Given the description of an element on the screen output the (x, y) to click on. 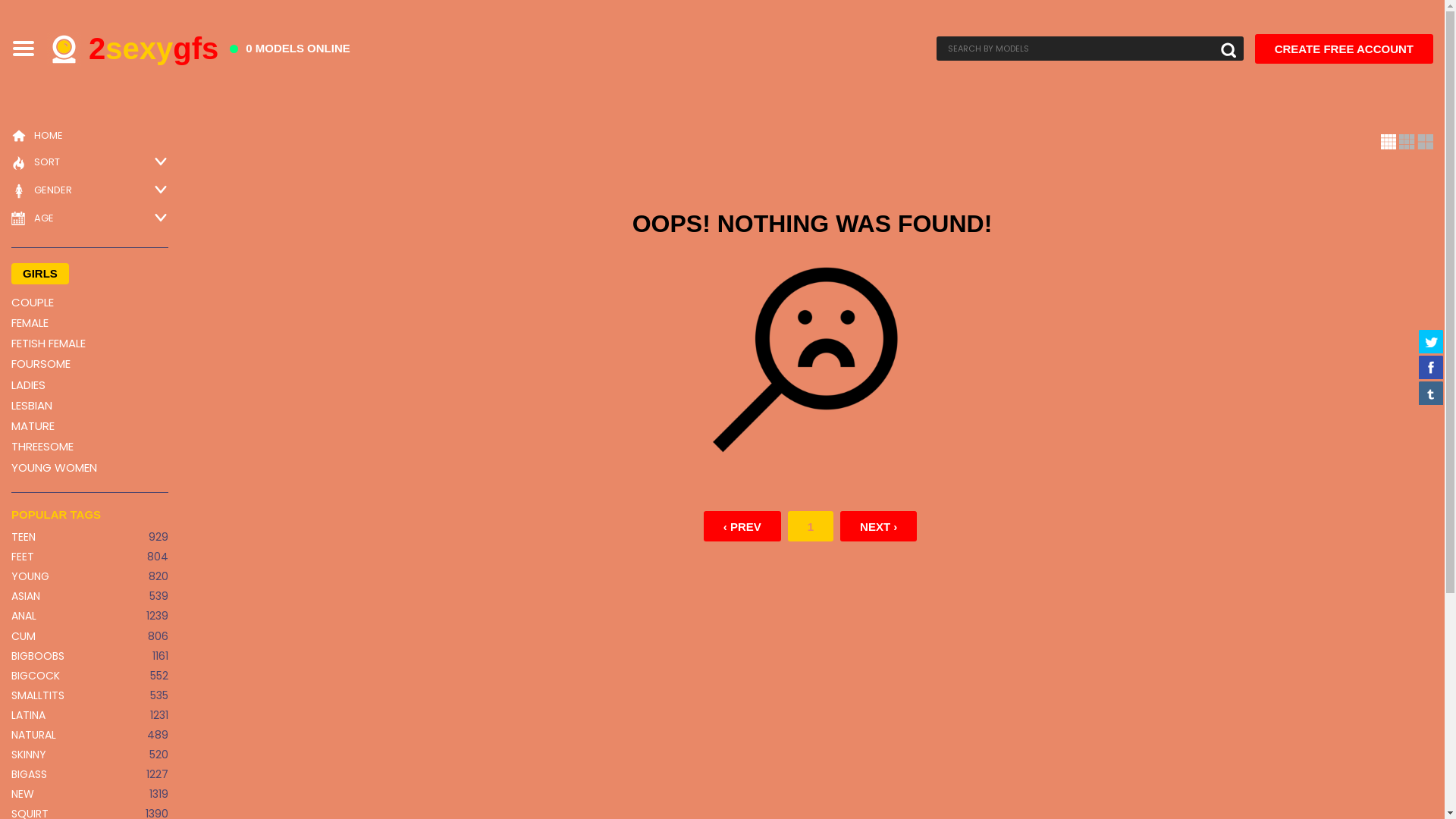
MATURE Element type: text (89, 425)
1 Element type: text (810, 526)
COUPLE Element type: text (89, 301)
GIRLS Element type: text (40, 273)
THREESOME Element type: text (89, 446)
ASIAN Element type: text (25, 595)
TEEN Element type: text (23, 536)
LATINA Element type: text (28, 715)
NATURAL Element type: text (33, 734)
SORT Element type: text (35, 162)
FEMALE Element type: text (89, 322)
BIGCOCK Element type: text (35, 675)
NEW Element type: text (22, 793)
AGE Element type: text (32, 218)
SKINNY Element type: text (28, 754)
CUM Element type: text (23, 635)
ANAL Element type: text (23, 615)
HOME Element type: text (36, 135)
GENDER Element type: text (41, 190)
FEET Element type: text (22, 556)
LESBIAN Element type: text (89, 405)
FETISH FEMALE Element type: text (89, 342)
Share this page on facebook Element type: hover (1430, 366)
YOUNG WOMEN Element type: text (89, 467)
CREATE FREE ACCOUNT Element type: text (1344, 47)
SMALLTITS Element type: text (37, 695)
YOUNG Element type: text (30, 576)
LADIES Element type: text (89, 384)
Share this page on twitter Element type: hover (1430, 341)
BIGASS Element type: text (29, 774)
BIGBOOBS Element type: text (37, 655)
Share this page on tumblr Element type: hover (1430, 392)
FOURSOME Element type: text (89, 363)
2
sexy
gfs Element type: text (132, 48)
